Given the description of an element on the screen output the (x, y) to click on. 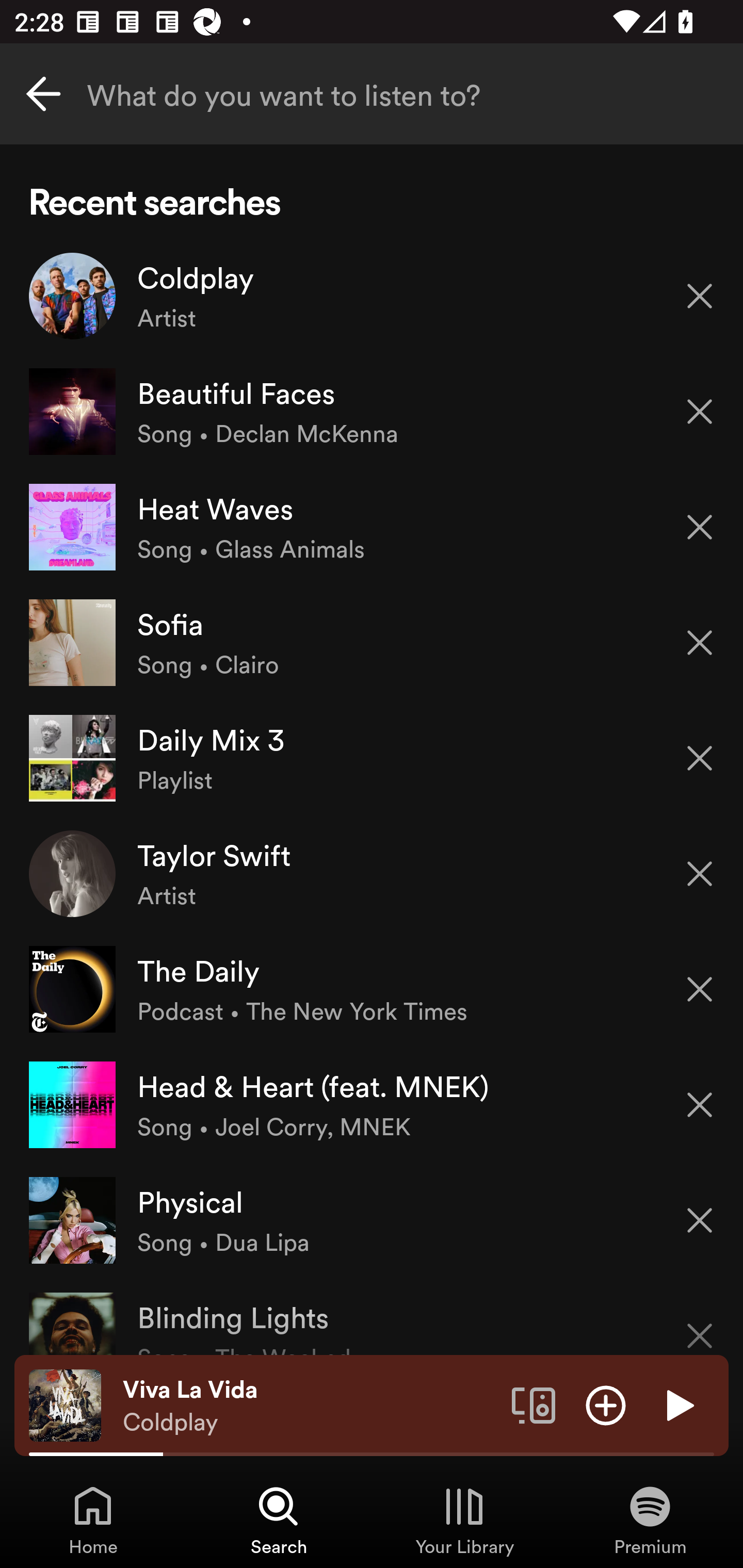
What do you want to listen to? (371, 93)
Cancel (43, 93)
Coldplay Artist Remove (371, 296)
Remove (699, 295)
Beautiful Faces Song • Declan McKenna Remove (371, 411)
Remove (699, 411)
Heat Waves Song • Glass Animals Remove (371, 526)
Remove (699, 527)
Sofia Song • Clairo Remove (371, 642)
Remove (699, 642)
Daily Mix 3 Playlist Remove (371, 757)
Remove (699, 758)
Taylor Swift Artist Remove (371, 873)
Remove (699, 874)
The Daily Podcast • The New York Times Remove (371, 989)
Remove (699, 989)
Remove (699, 1104)
Physical Song • Dua Lipa Remove (371, 1219)
Remove (699, 1220)
Blinding Lights Song • The Weeknd Remove (371, 1315)
Remove (699, 1323)
Viva La Vida Coldplay (309, 1405)
The cover art of the currently playing track (64, 1404)
Connect to a device. Opens the devices menu (533, 1404)
Add item (605, 1404)
Play (677, 1404)
Home, Tab 1 of 4 Home Home (92, 1519)
Search, Tab 2 of 4 Search Search (278, 1519)
Your Library, Tab 3 of 4 Your Library Your Library (464, 1519)
Premium, Tab 4 of 4 Premium Premium (650, 1519)
